Given the description of an element on the screen output the (x, y) to click on. 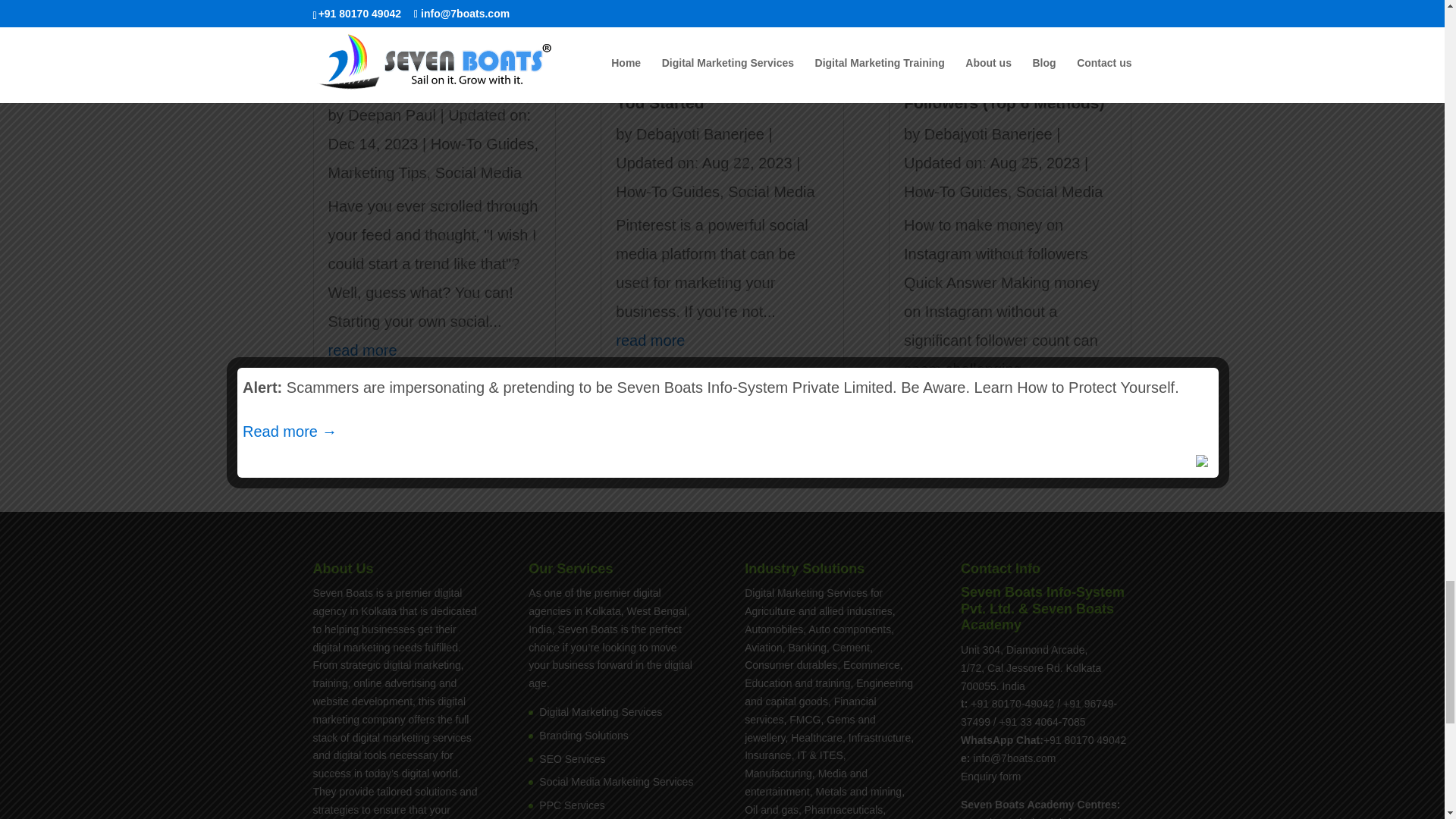
How-To Guides (482, 143)
Posts by Debajyoti Banerjee (988, 134)
Social Media (478, 172)
Posts by Debajyoti Banerjee (700, 134)
Posts by Deepan Paul (391, 115)
How to start your own social media trend? (411, 73)
Deepan Paul (391, 115)
read more (361, 350)
Marketing Tips (376, 172)
